Given the description of an element on the screen output the (x, y) to click on. 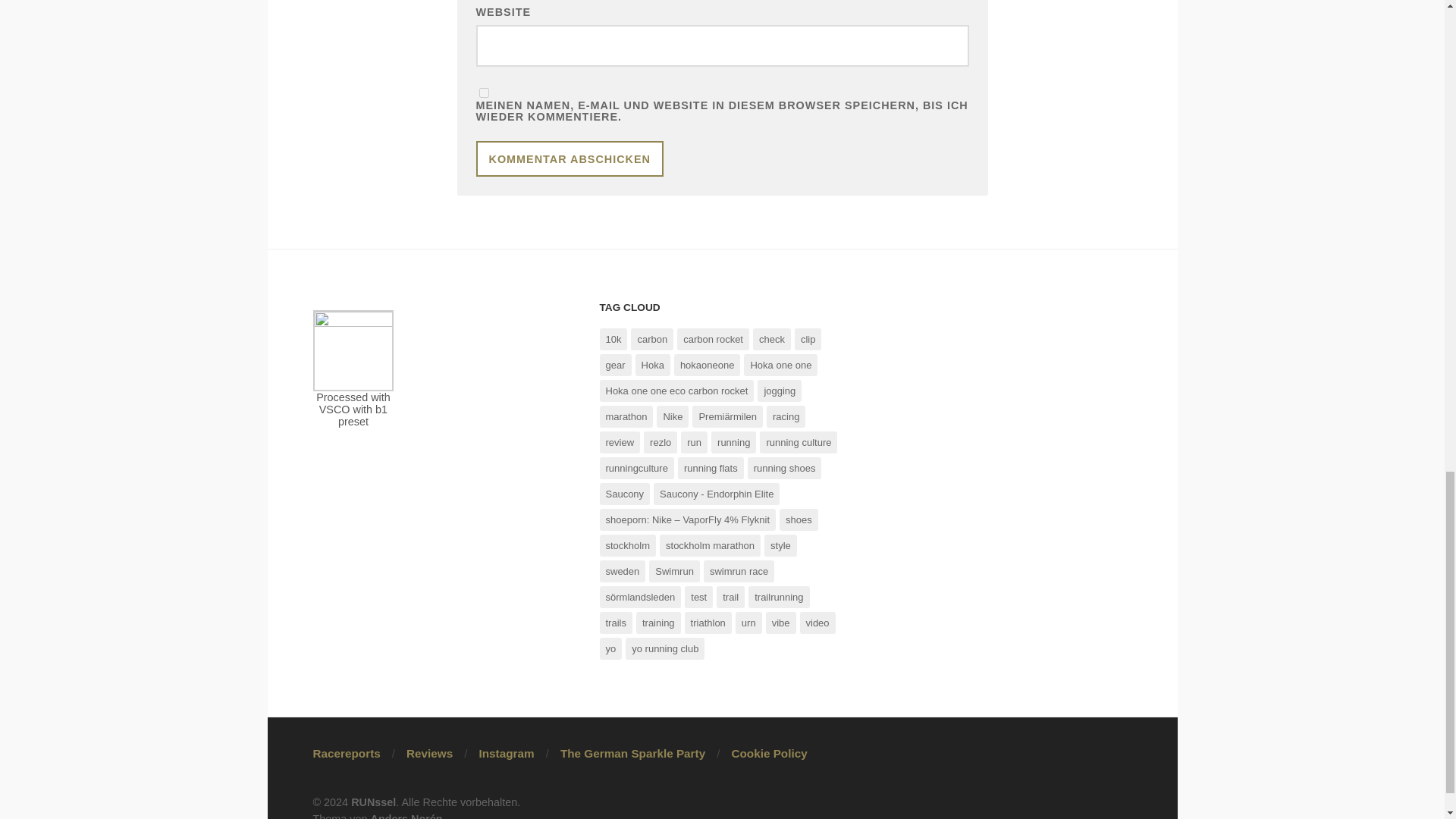
yes (484, 92)
hokaoneone (707, 364)
check (771, 339)
jogging (779, 391)
marathon (625, 416)
Hoka one one (780, 364)
Hoka (651, 364)
Kommentar abschicken (569, 158)
carbon (651, 339)
Kommentar abschicken (569, 158)
Hoka one one eco carbon rocket (676, 391)
carbon rocket (713, 339)
10k (612, 339)
gear (614, 364)
RUNssel (373, 802)
